Given the description of an element on the screen output the (x, y) to click on. 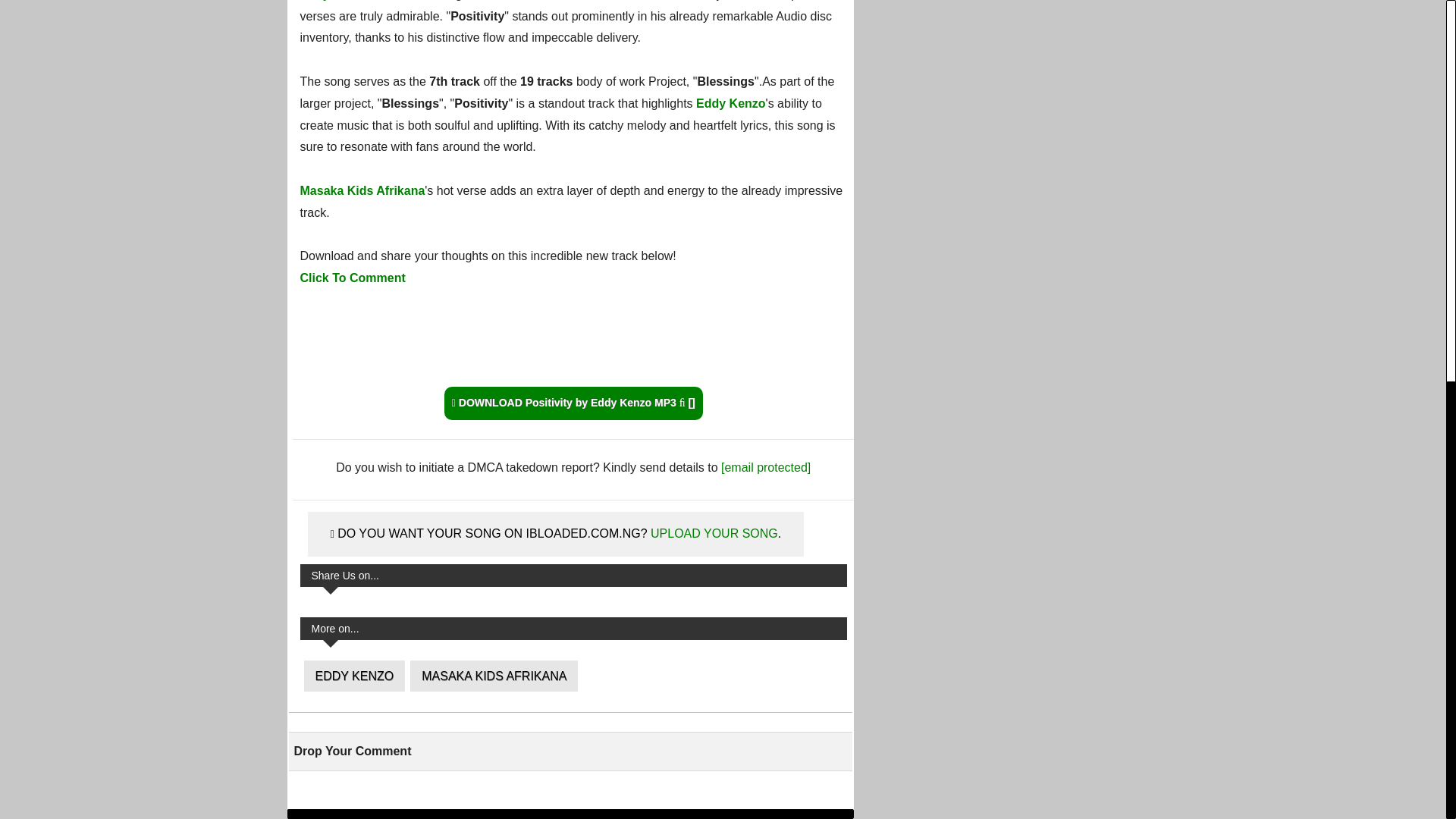
Eddy Kenzo (730, 103)
Eddy Kenzo (334, 0)
Music Player (573, 341)
Masaka Kids Afrikana (362, 190)
